Given the description of an element on the screen output the (x, y) to click on. 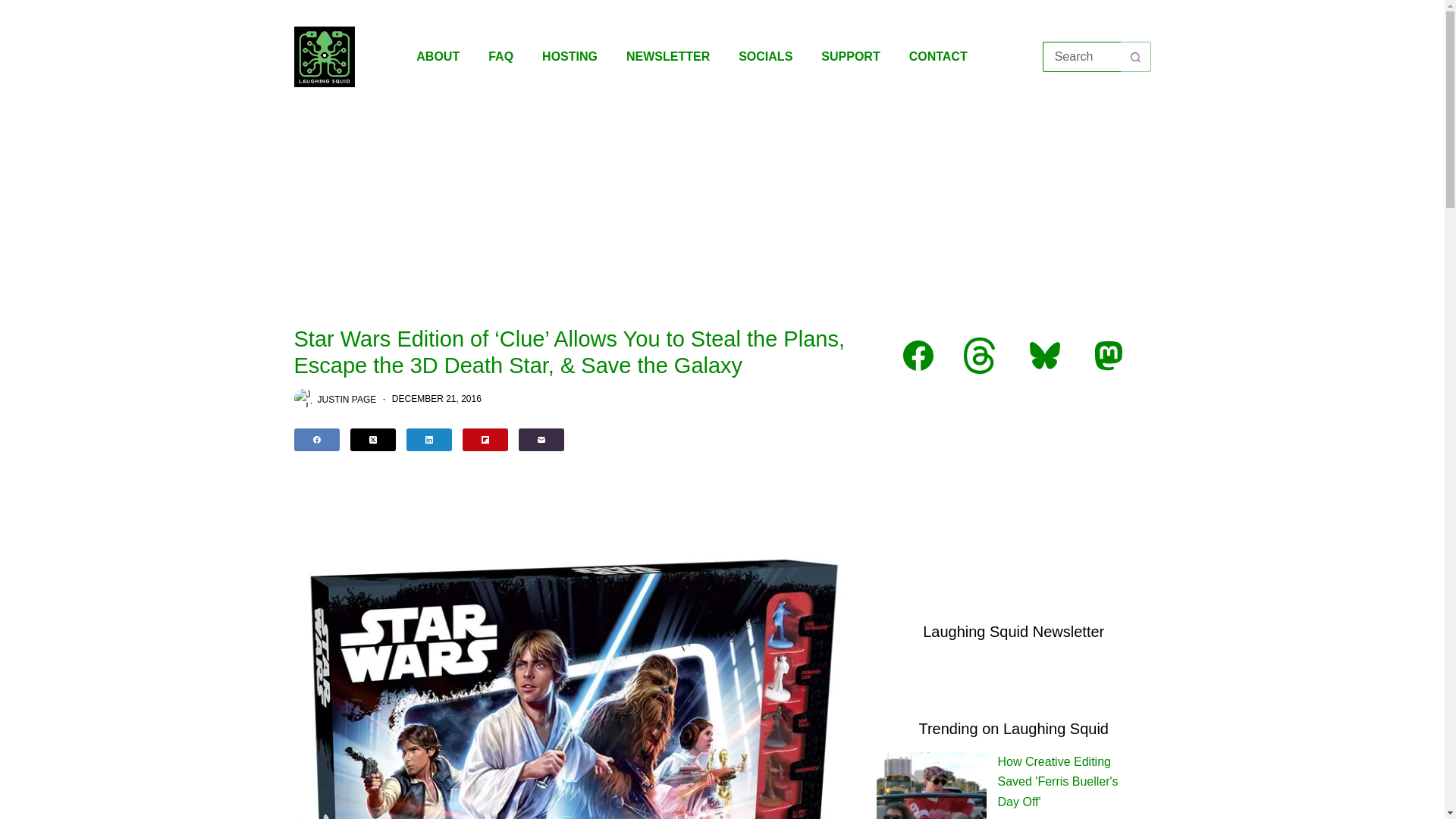
Posts by Justin Page (346, 398)
NEWSLETTER (667, 56)
HOSTING (569, 56)
ABOUT (437, 56)
How Creative Editing Saved 'Ferris Bueller's Day Off' (1057, 781)
JUSTIN PAGE (346, 398)
SOCIALS (764, 56)
Skip to content (15, 7)
Search for... (1081, 56)
SUPPORT (849, 56)
CONTACT (938, 56)
FAQ (500, 56)
